Given the description of an element on the screen output the (x, y) to click on. 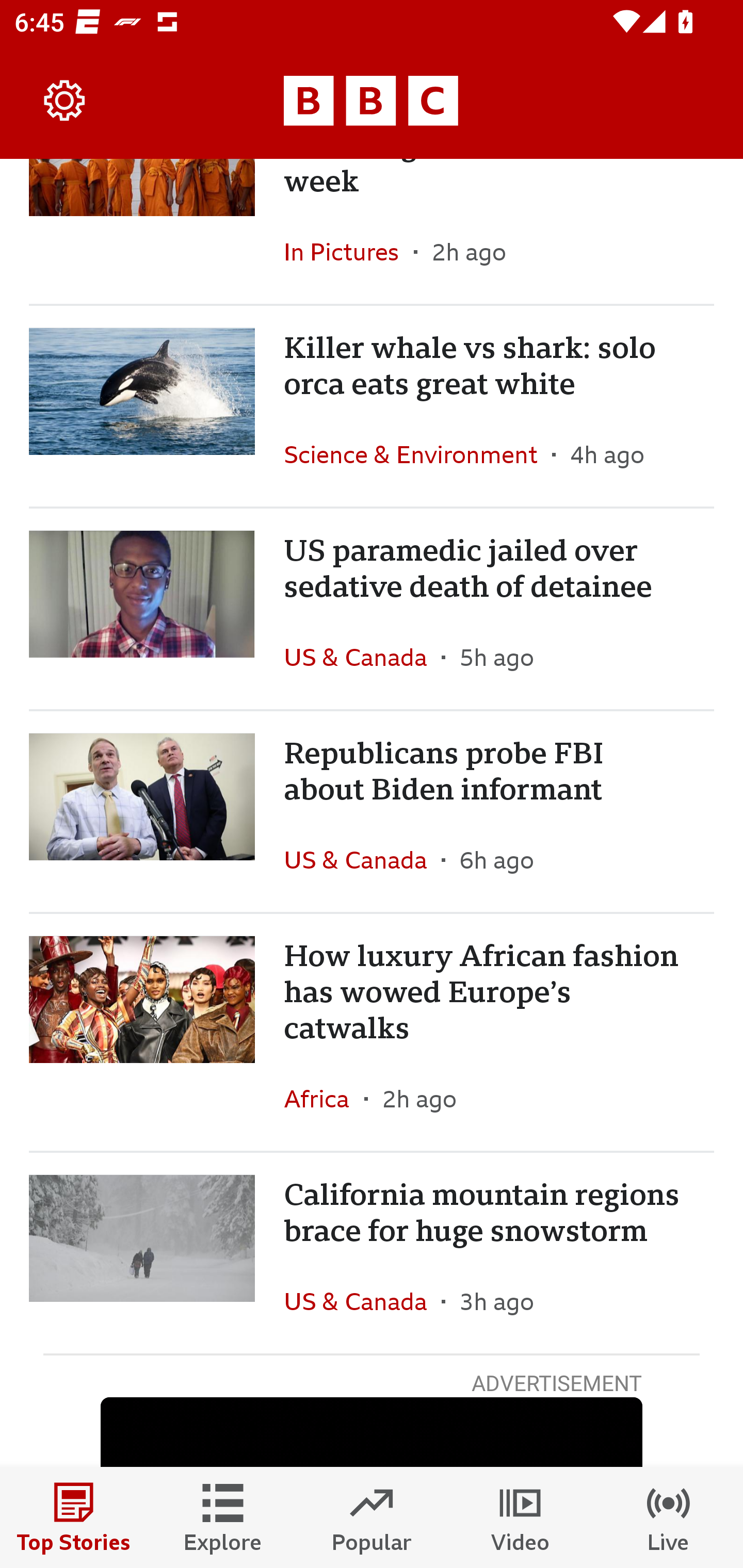
Settings (64, 100)
In Pictures In the section In Pictures (348, 251)
US & Canada In the section US & Canada (362, 656)
US & Canada In the section US & Canada (362, 859)
Africa In the section Africa (323, 1097)
US & Canada In the section US & Canada (362, 1301)
Explore (222, 1517)
Popular (371, 1517)
Video (519, 1517)
Live (668, 1517)
